Given the description of an element on the screen output the (x, y) to click on. 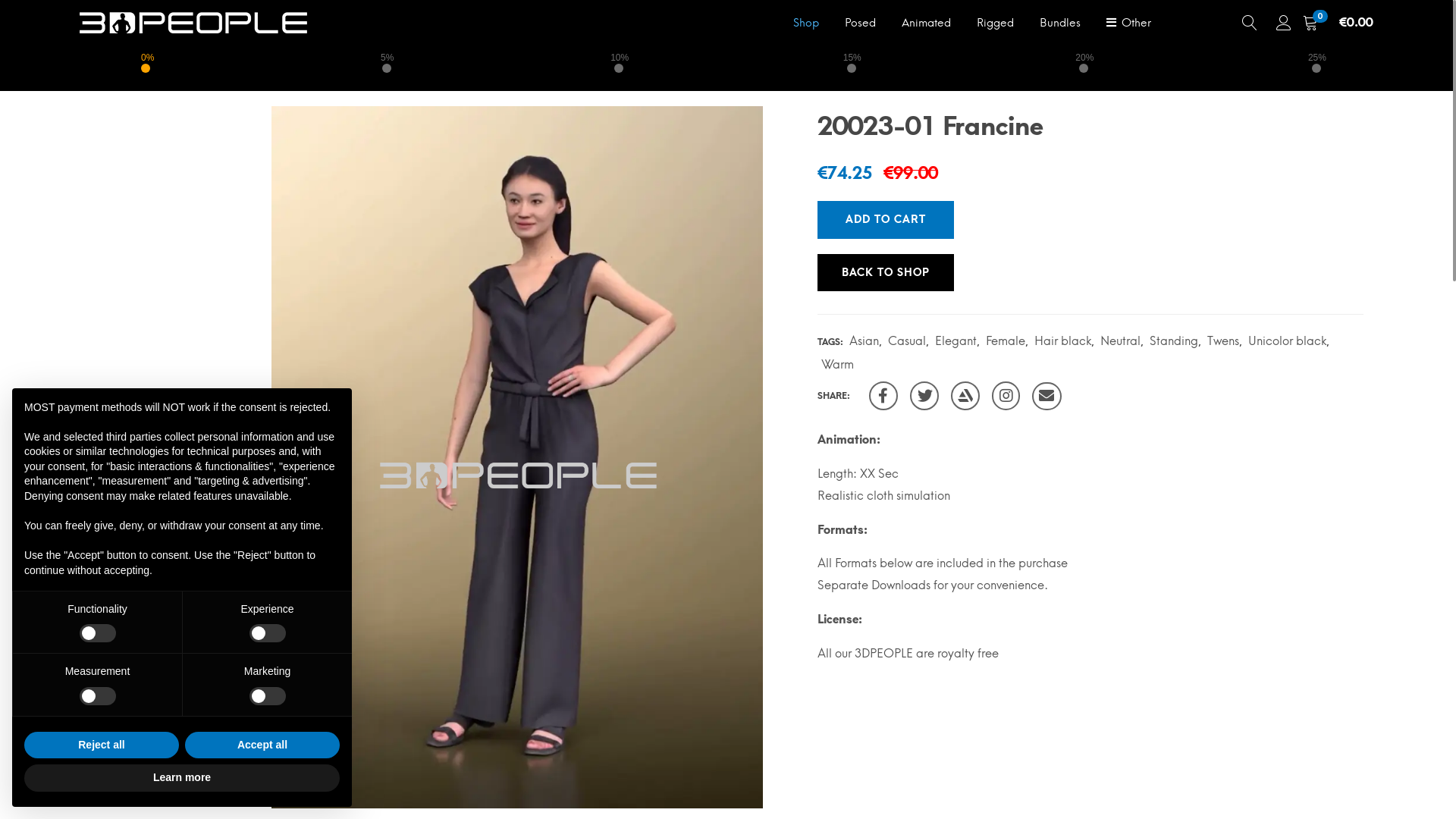
Elegant Element type: text (955, 340)
Female Element type: text (1005, 340)
0 Element type: text (1310, 22)
Standing Element type: text (1173, 340)
ADD TO CART Element type: text (885, 219)
Neutral Element type: text (1120, 340)
Unicolor black Element type: text (1287, 340)
Warm Element type: text (837, 364)
20023-01 Francine Element type: hover (924, 395)
Reject all Element type: text (101, 745)
Asian Element type: text (863, 340)
Learn more Element type: text (181, 777)
20023-01 Francine Element type: hover (964, 395)
BACK TO SHOP Element type: text (885, 272)
20023-01 Francine Element type: hover (1046, 396)
20023-01 Francine Element type: hover (883, 395)
Casual Element type: text (906, 340)
Hair black Element type: text (1062, 340)
Accept all Element type: text (262, 745)
20023-01 Francine Element type: hover (1005, 395)
Twens Element type: text (1223, 340)
